Given the description of an element on the screen output the (x, y) to click on. 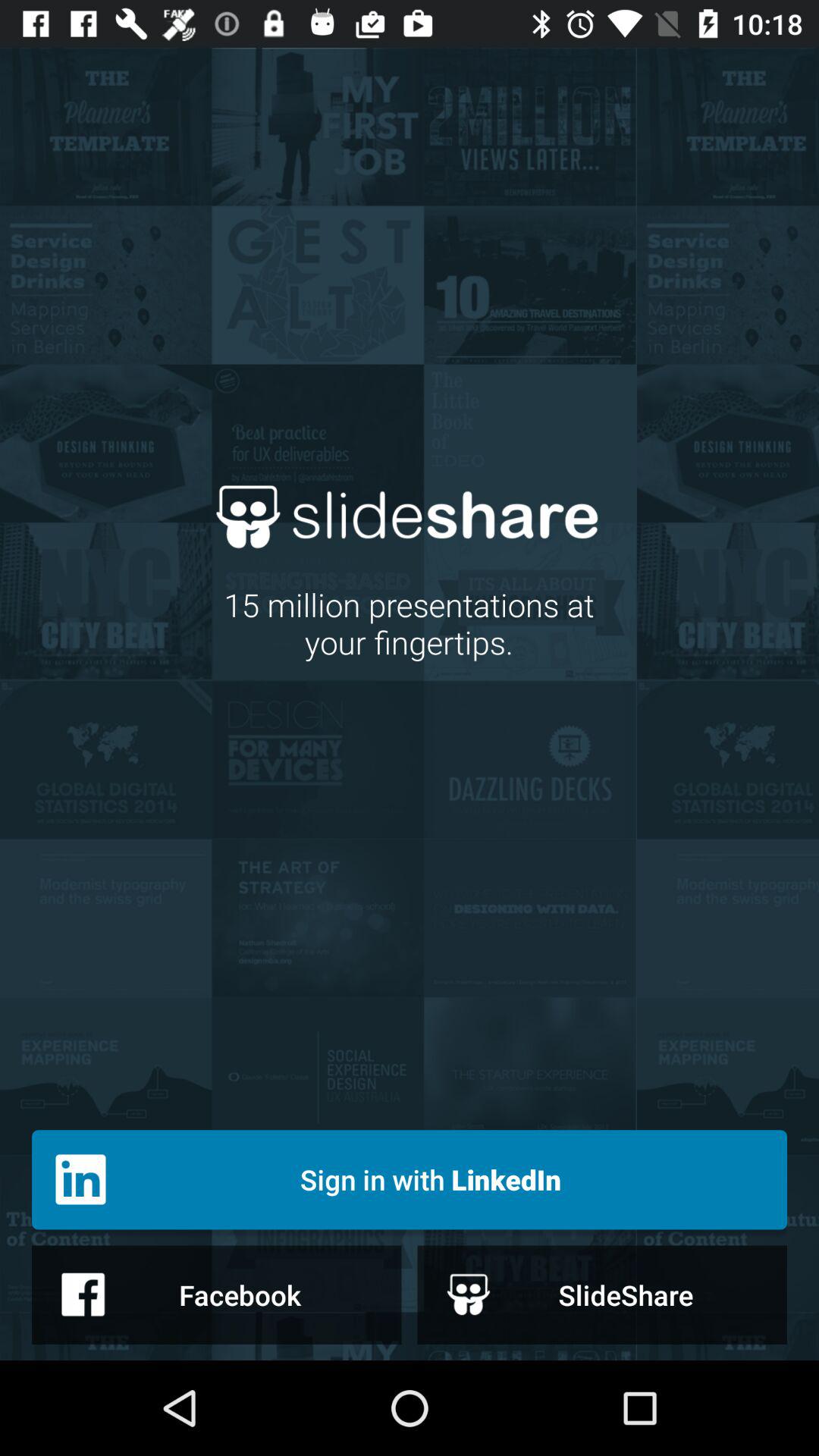
scroll to the sign in with item (409, 1179)
